Given the description of an element on the screen output the (x, y) to click on. 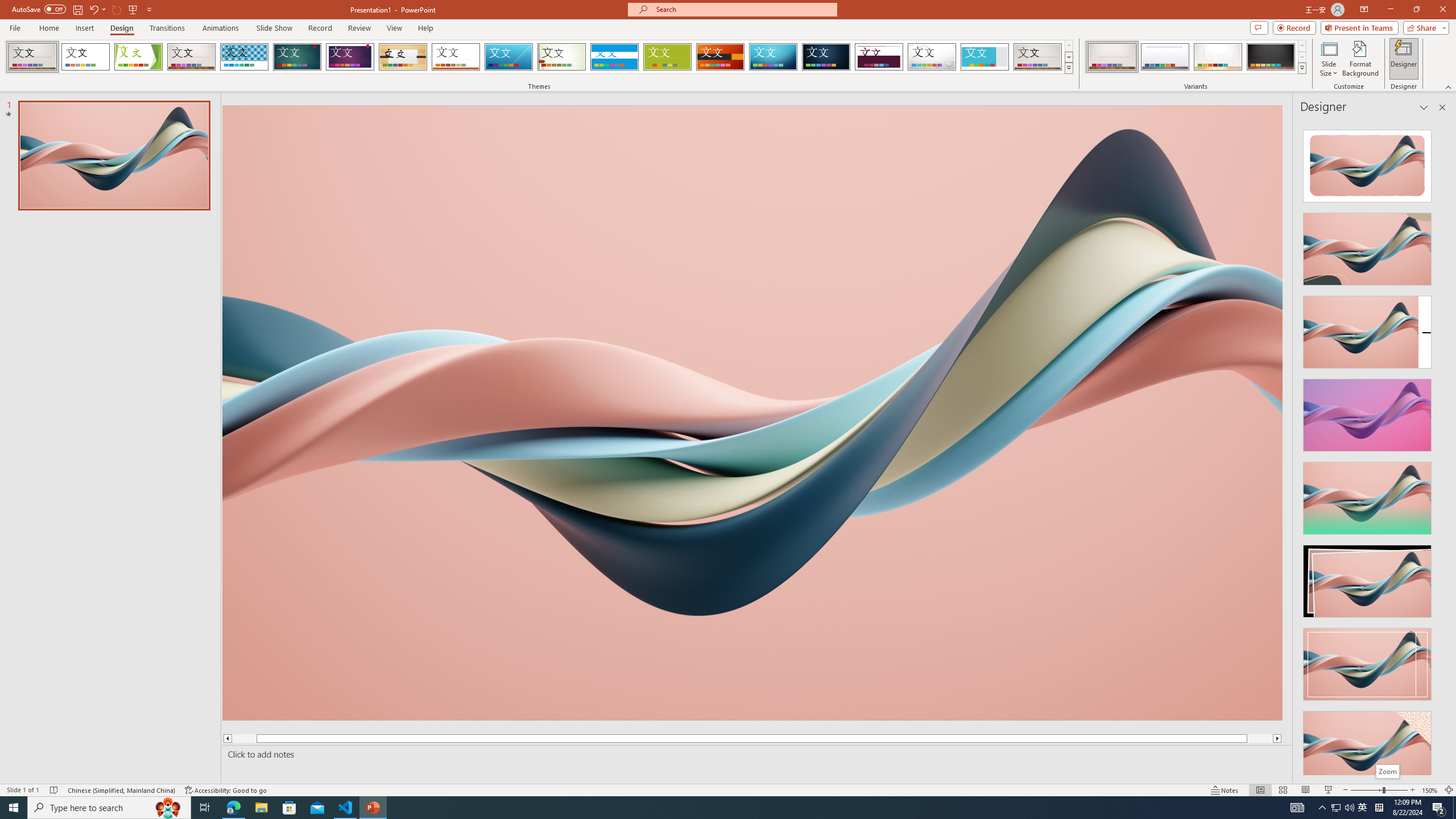
Gallery Variant 2 (1164, 56)
Damask (826, 56)
Circuit (772, 56)
Ion Boardroom (350, 56)
Wavy 3D art (752, 412)
Berlin (720, 56)
